Given the description of an element on the screen output the (x, y) to click on. 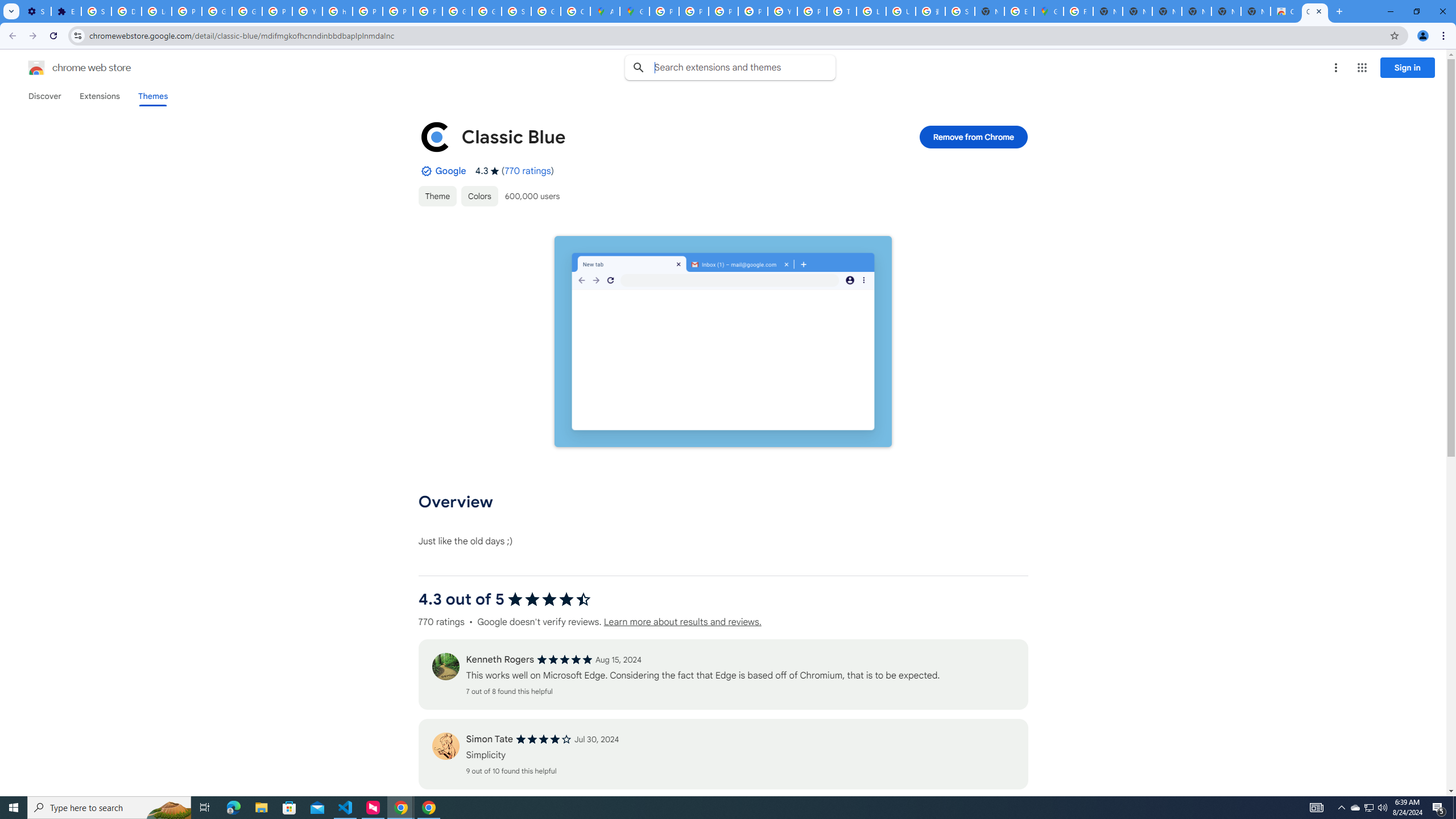
Item media 1 screenshot (722, 341)
By Established Publisher Badge (425, 170)
